Given the description of an element on the screen output the (x, y) to click on. 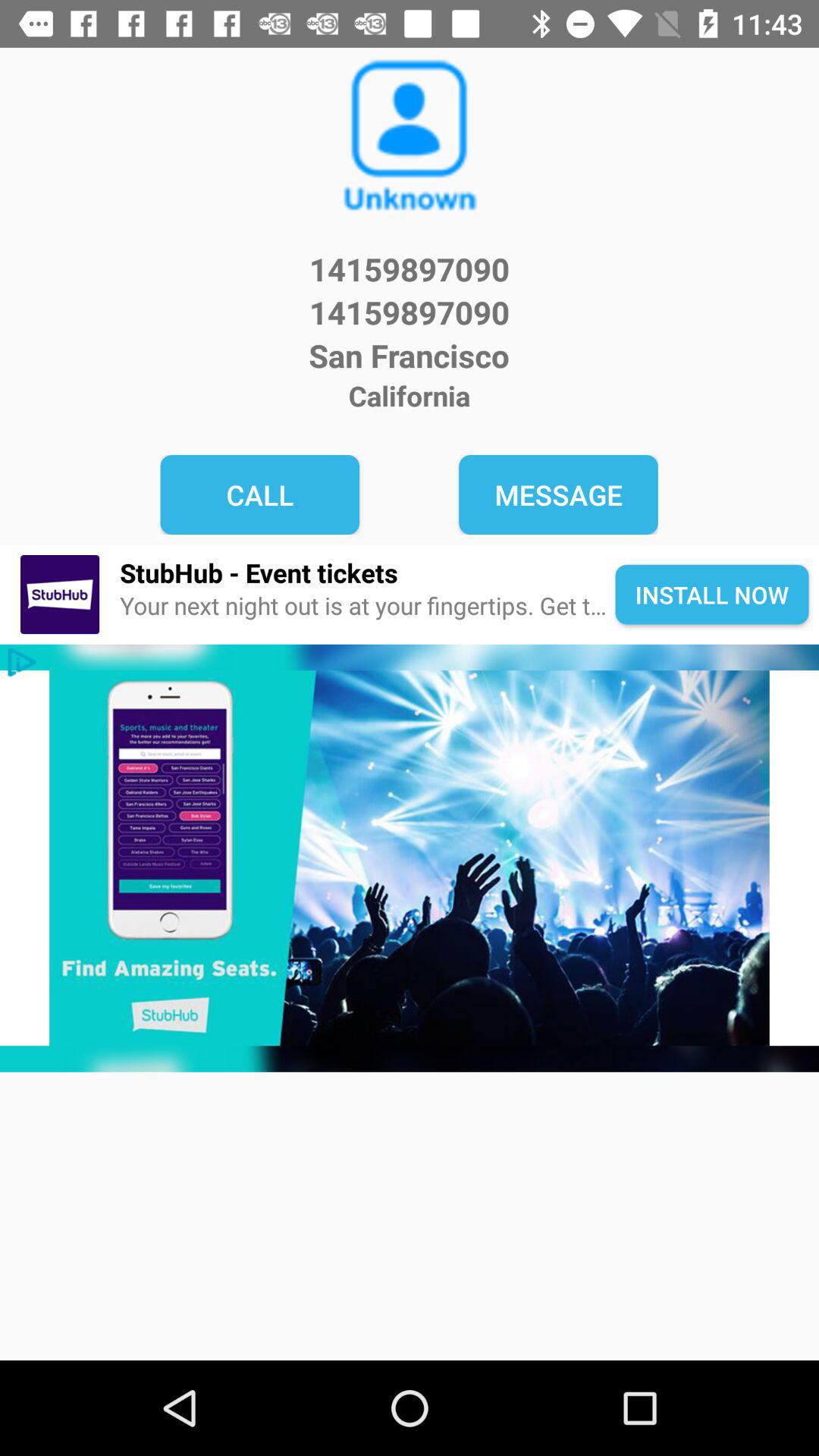
turn off the icon to the left of the stubhub - event tickets item (59, 594)
